Given the description of an element on the screen output the (x, y) to click on. 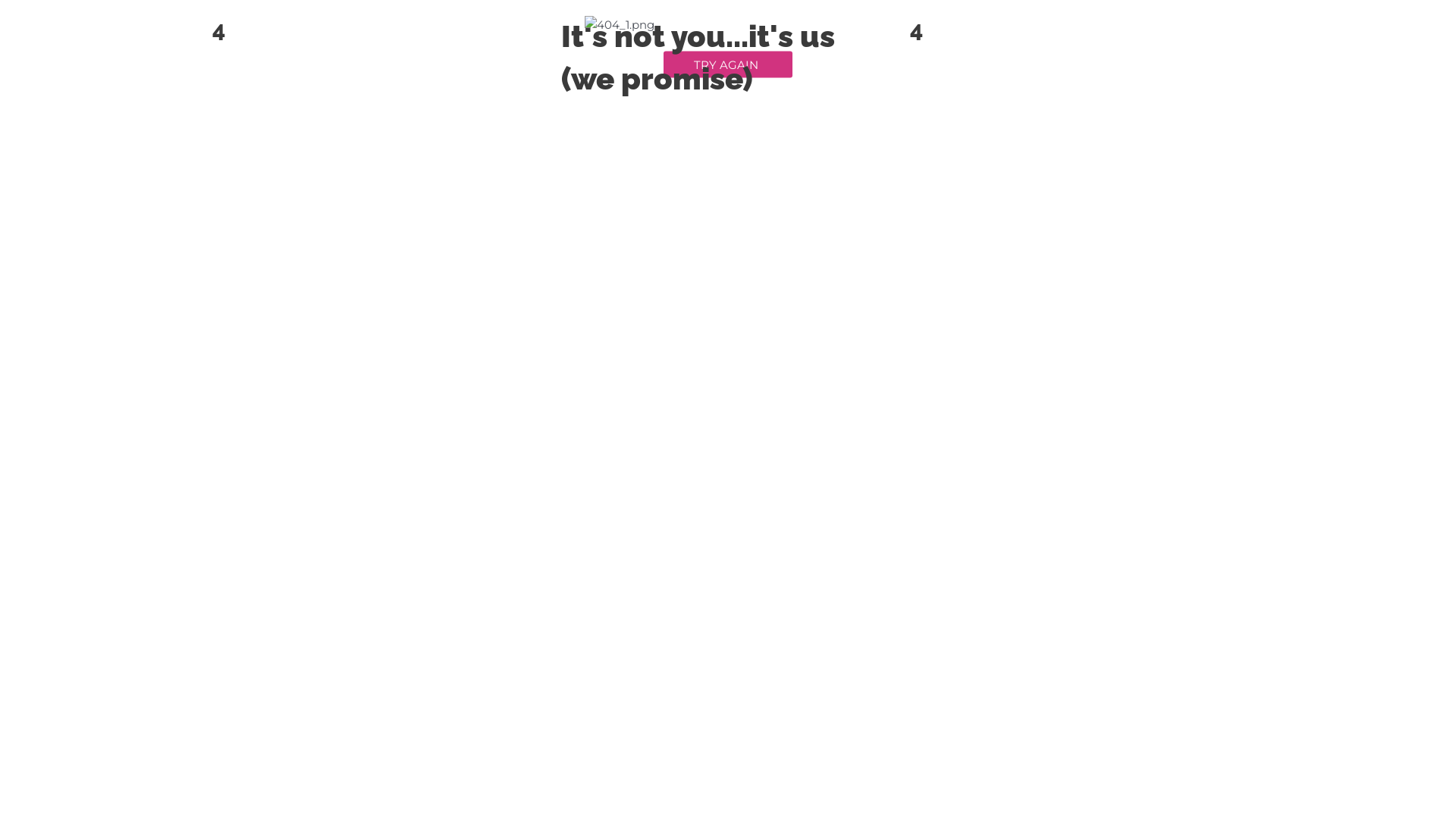
TRY AGAIN Element type: text (727, 63)
